Given the description of an element on the screen output the (x, y) to click on. 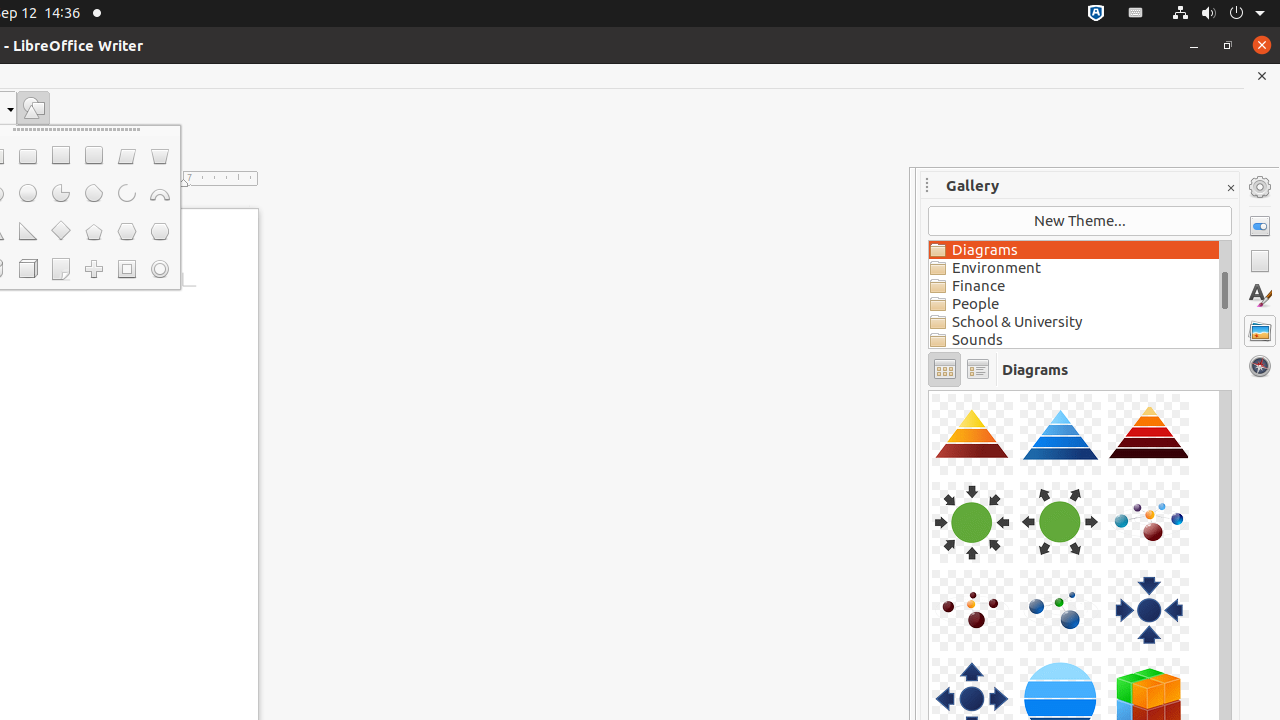
Component-Cuboid03-Green Element type: list-item (929, 390)
Component-Gear04-DarkRed Element type: list-item (929, 390)
Octagon Element type: toggle-button (159, 231)
Cube Element type: toggle-button (27, 269)
Component-Gear01-DarkBlue Element type: list-item (929, 390)
